Given the description of an element on the screen output the (x, y) to click on. 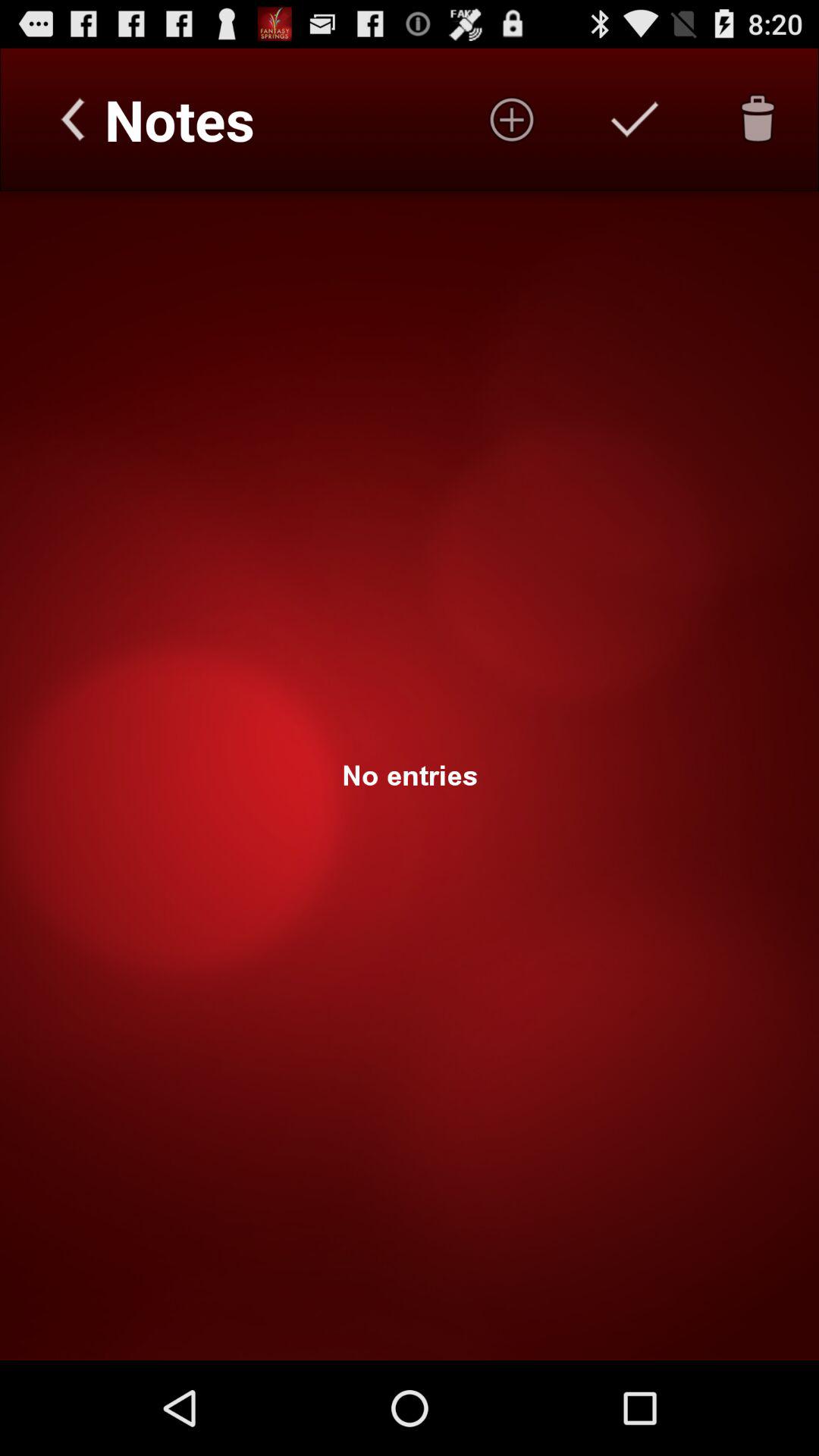
delete note (757, 119)
